Given the description of an element on the screen output the (x, y) to click on. 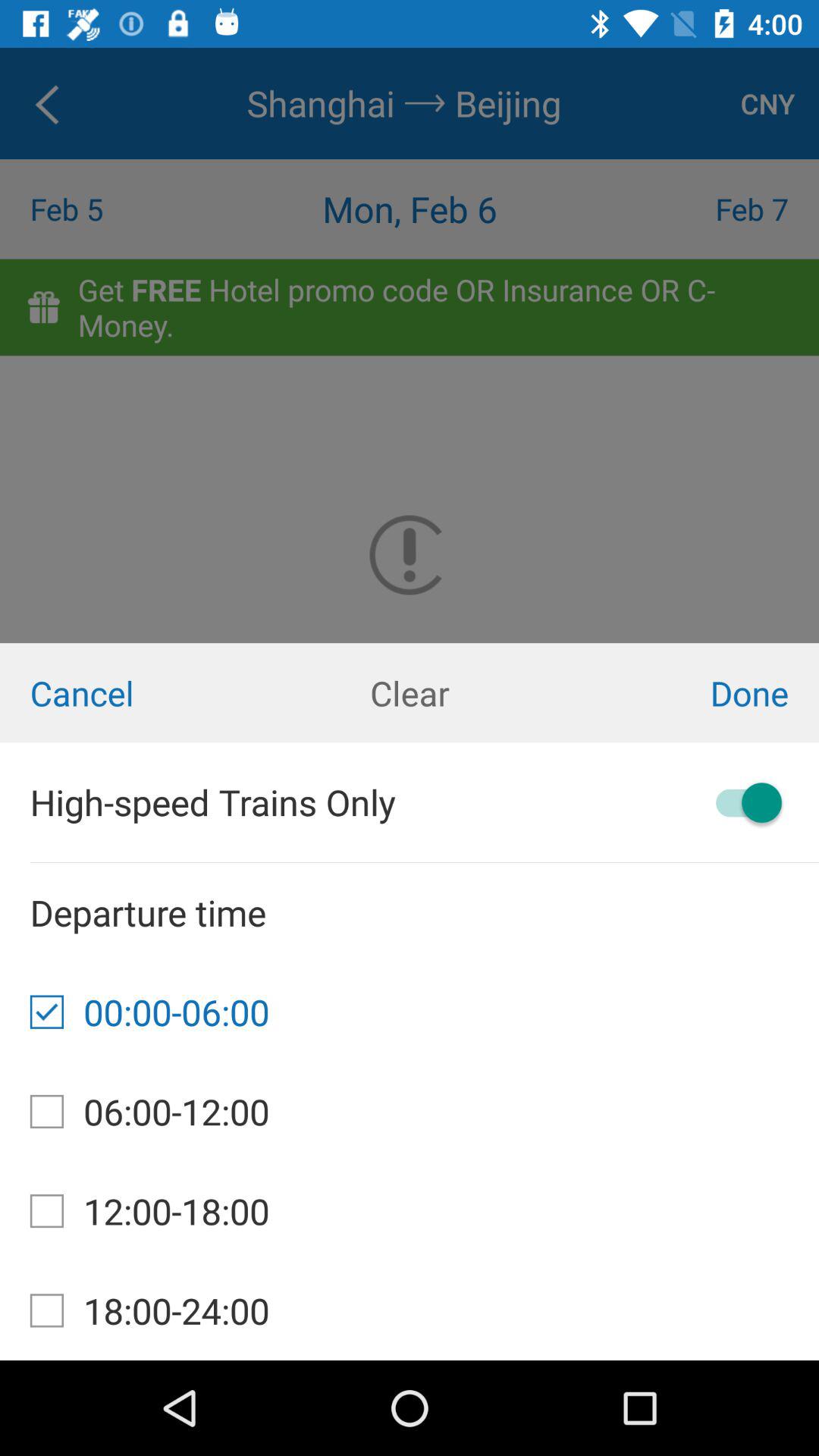
press item next to the clear item (682, 692)
